Given the description of an element on the screen output the (x, y) to click on. 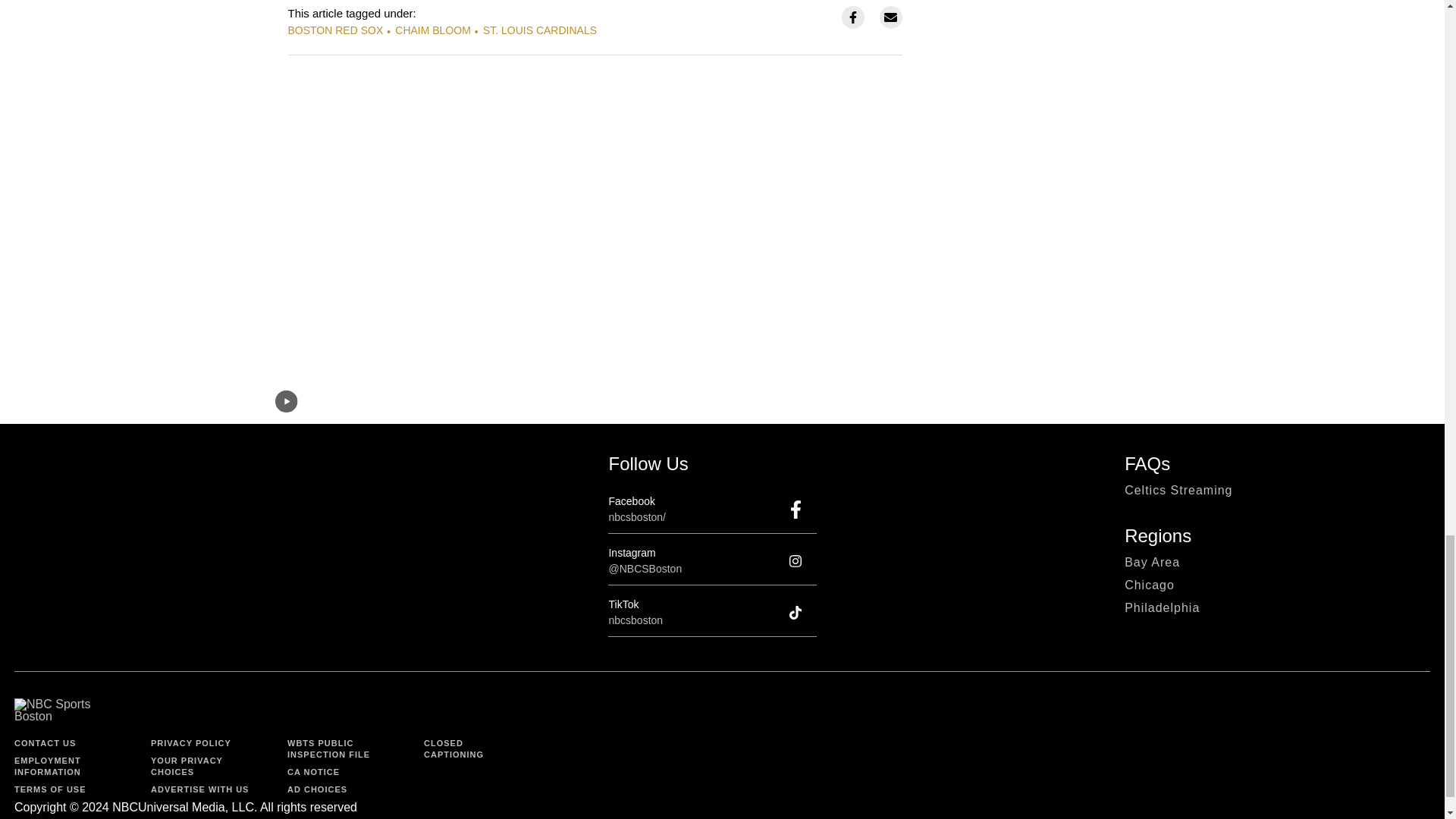
BOSTON RED SOX (336, 30)
CHAIM BLOOM (432, 30)
ST. LOUIS CARDINALS (539, 30)
